Given the description of an element on the screen output the (x, y) to click on. 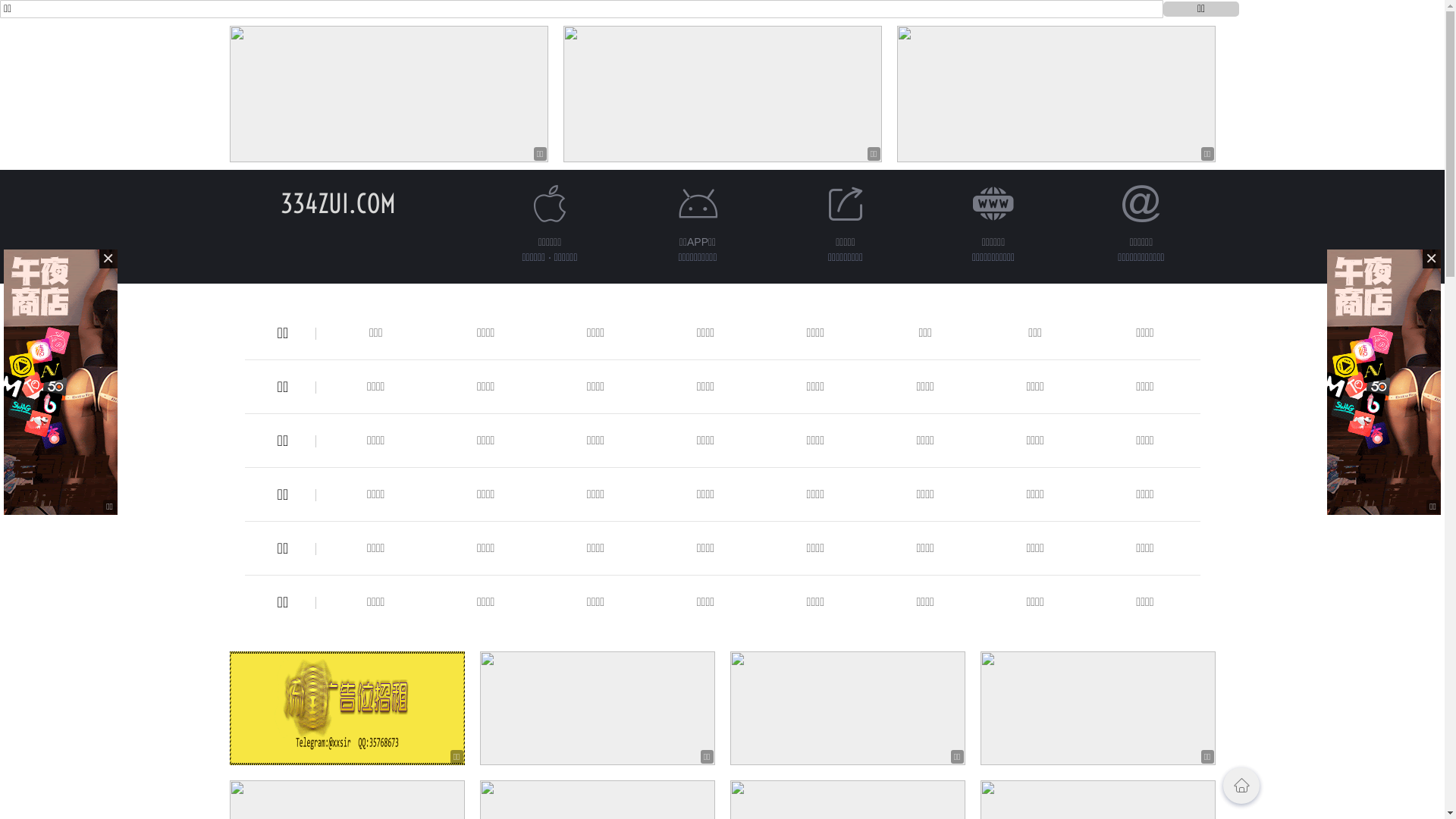
334ZUI.COM Element type: text (337, 203)
